Given the description of an element on the screen output the (x, y) to click on. 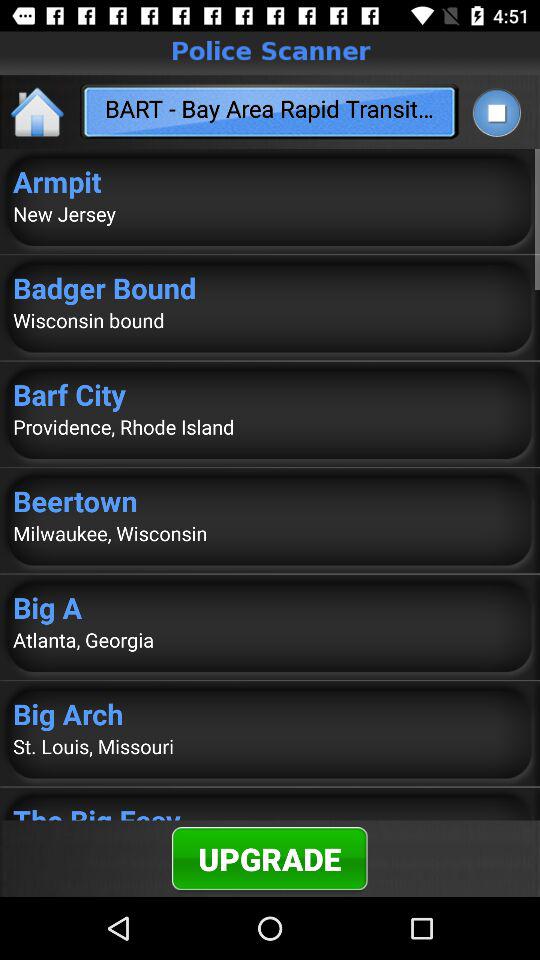
go home (38, 111)
